Given the description of an element on the screen output the (x, y) to click on. 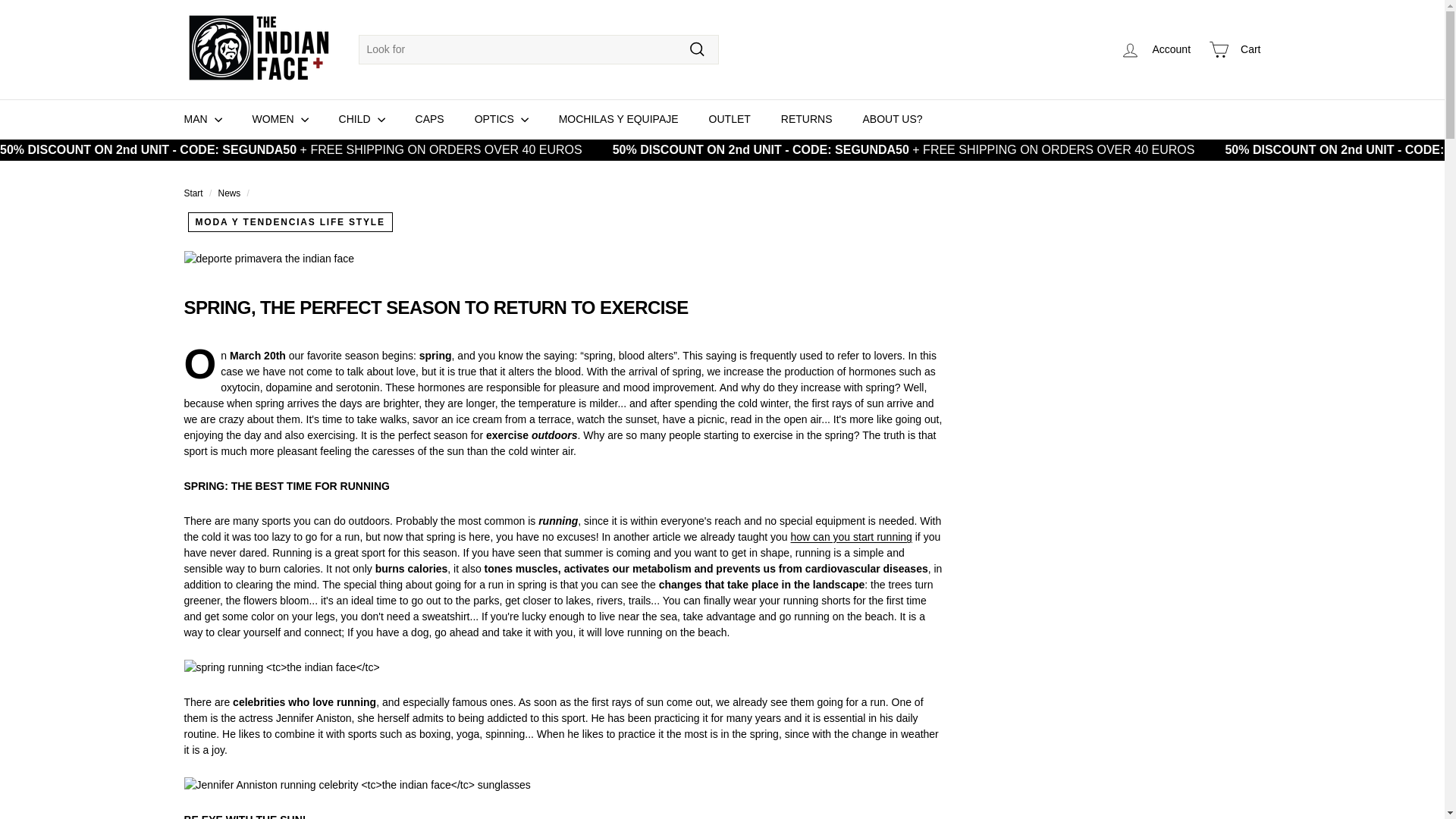
Cart (1234, 49)
CAPS (430, 119)
Back to the cover page (192, 193)
Account (1154, 49)
